Given the description of an element on the screen output the (x, y) to click on. 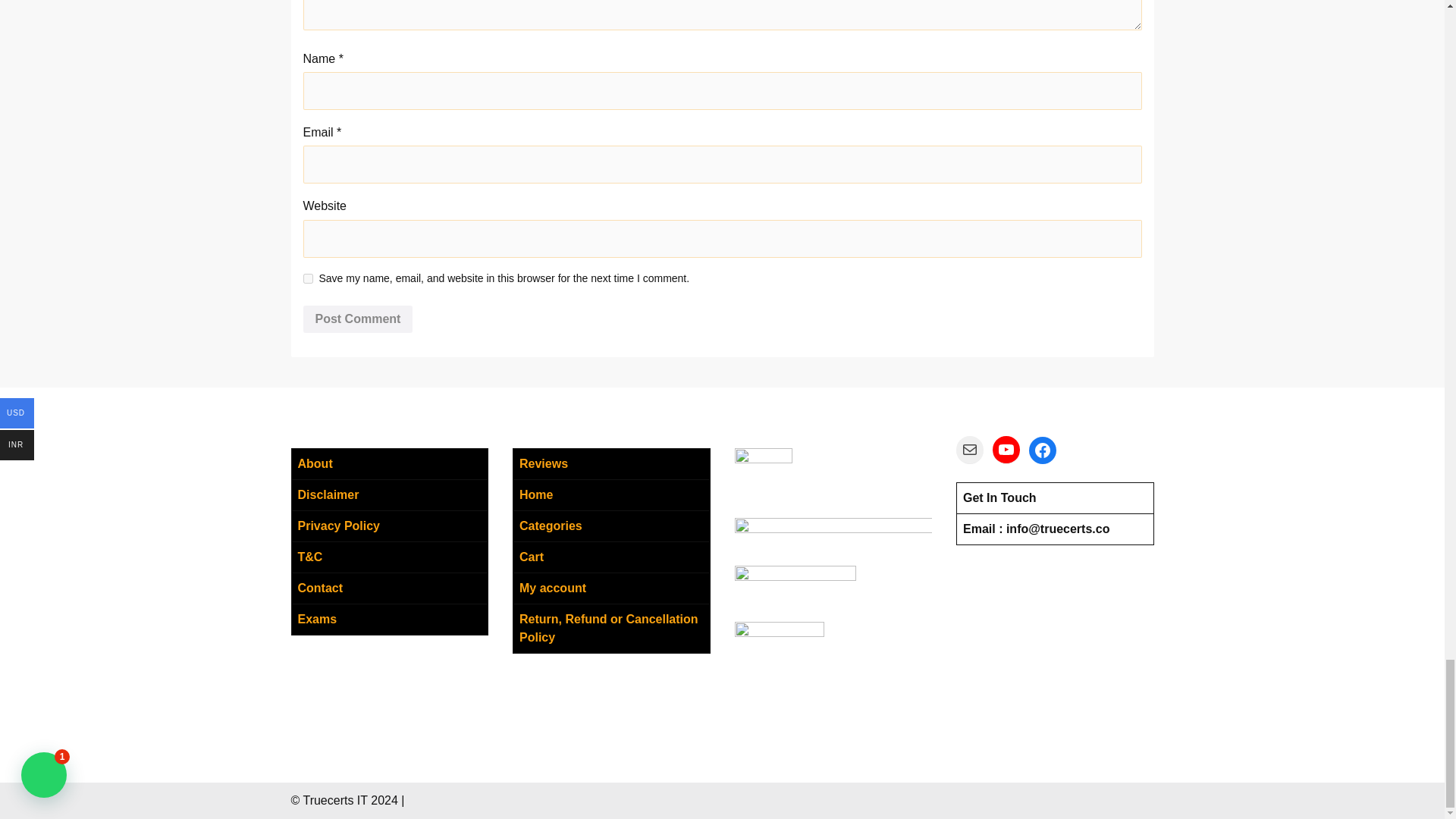
yes (307, 278)
Post Comment (357, 318)
